Given the description of an element on the screen output the (x, y) to click on. 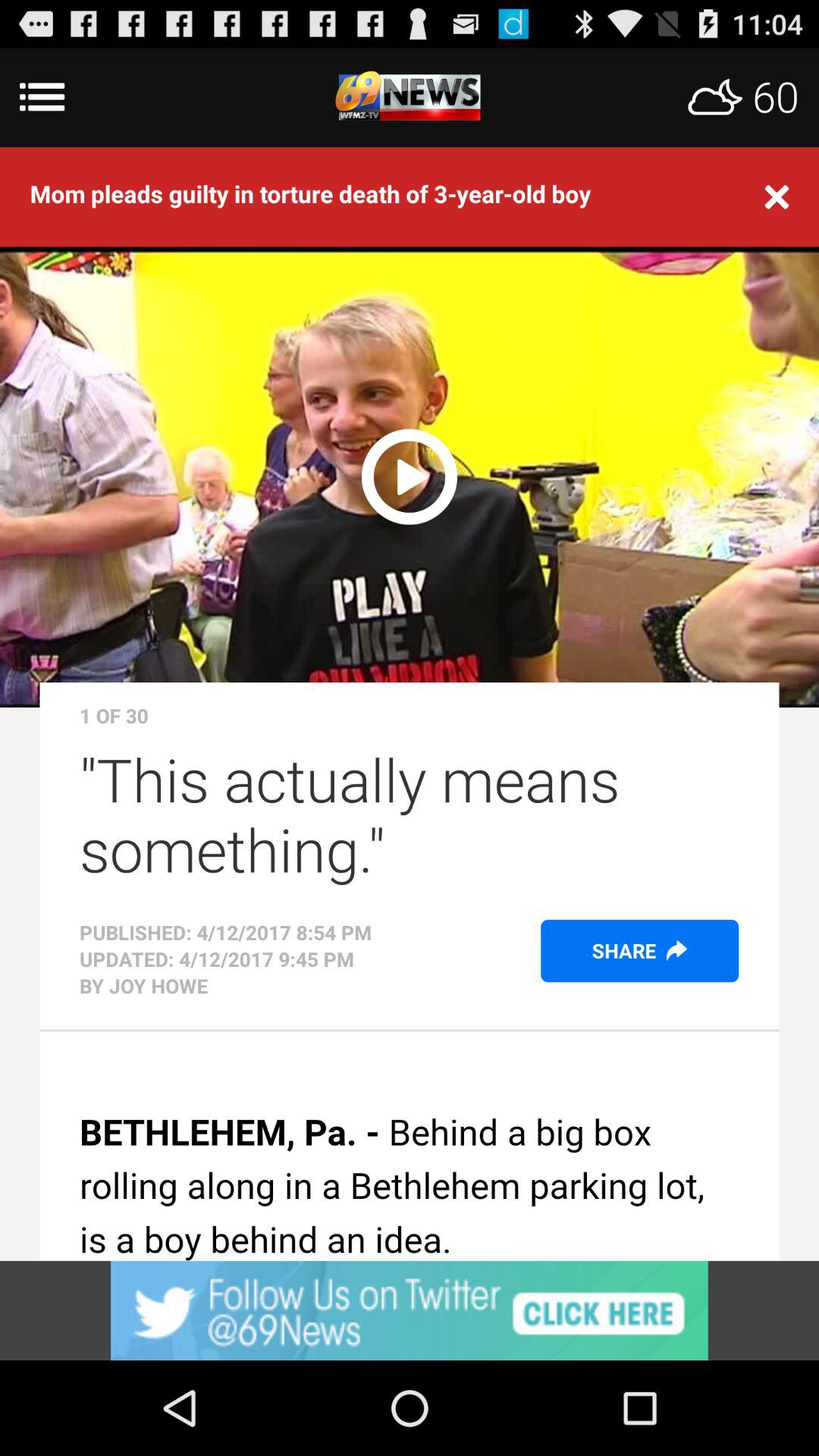
video play (409, 474)
